Given the description of an element on the screen output the (x, y) to click on. 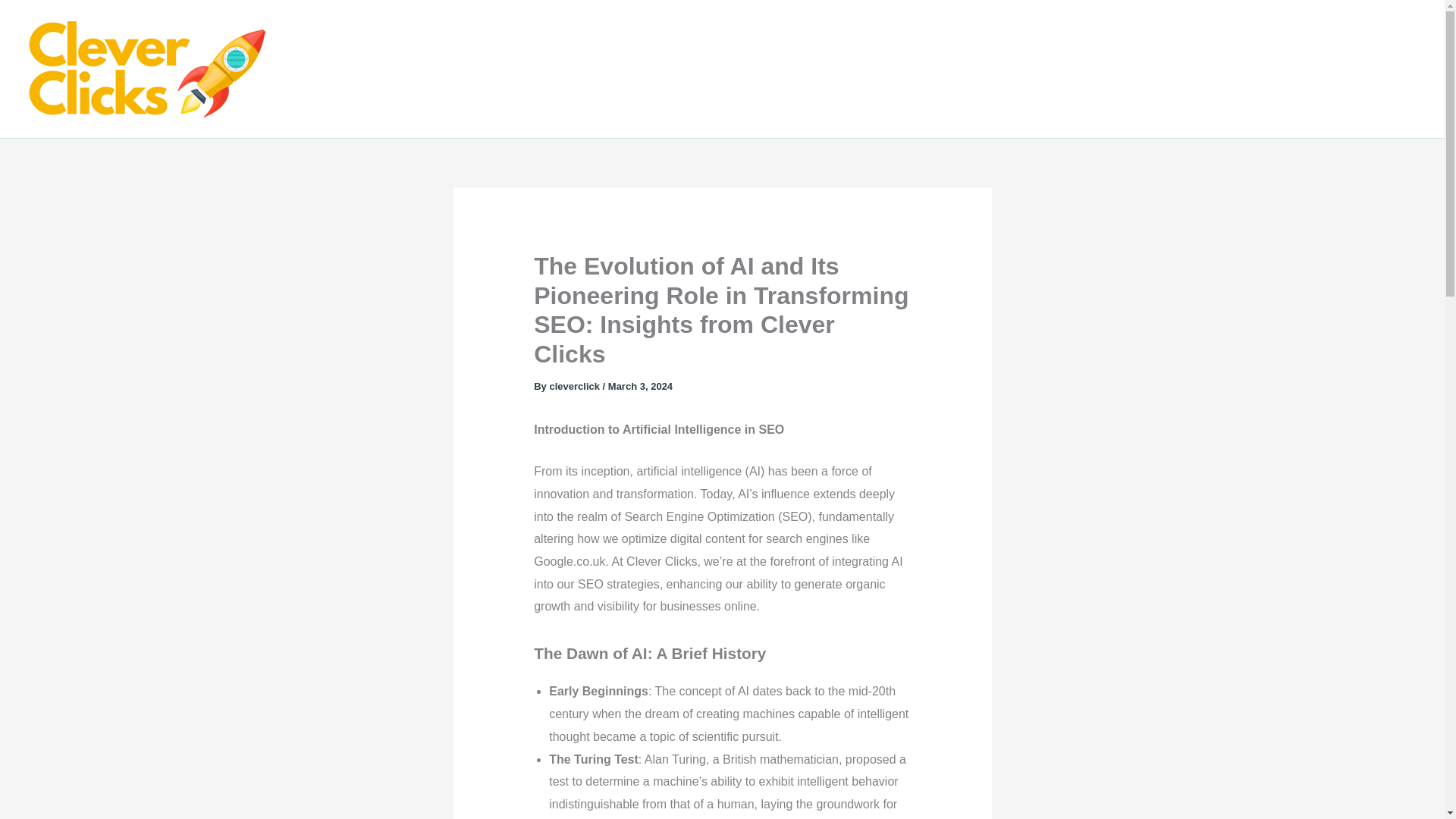
Contact (1395, 68)
View all posts by cleverclick (575, 386)
